Given the description of an element on the screen output the (x, y) to click on. 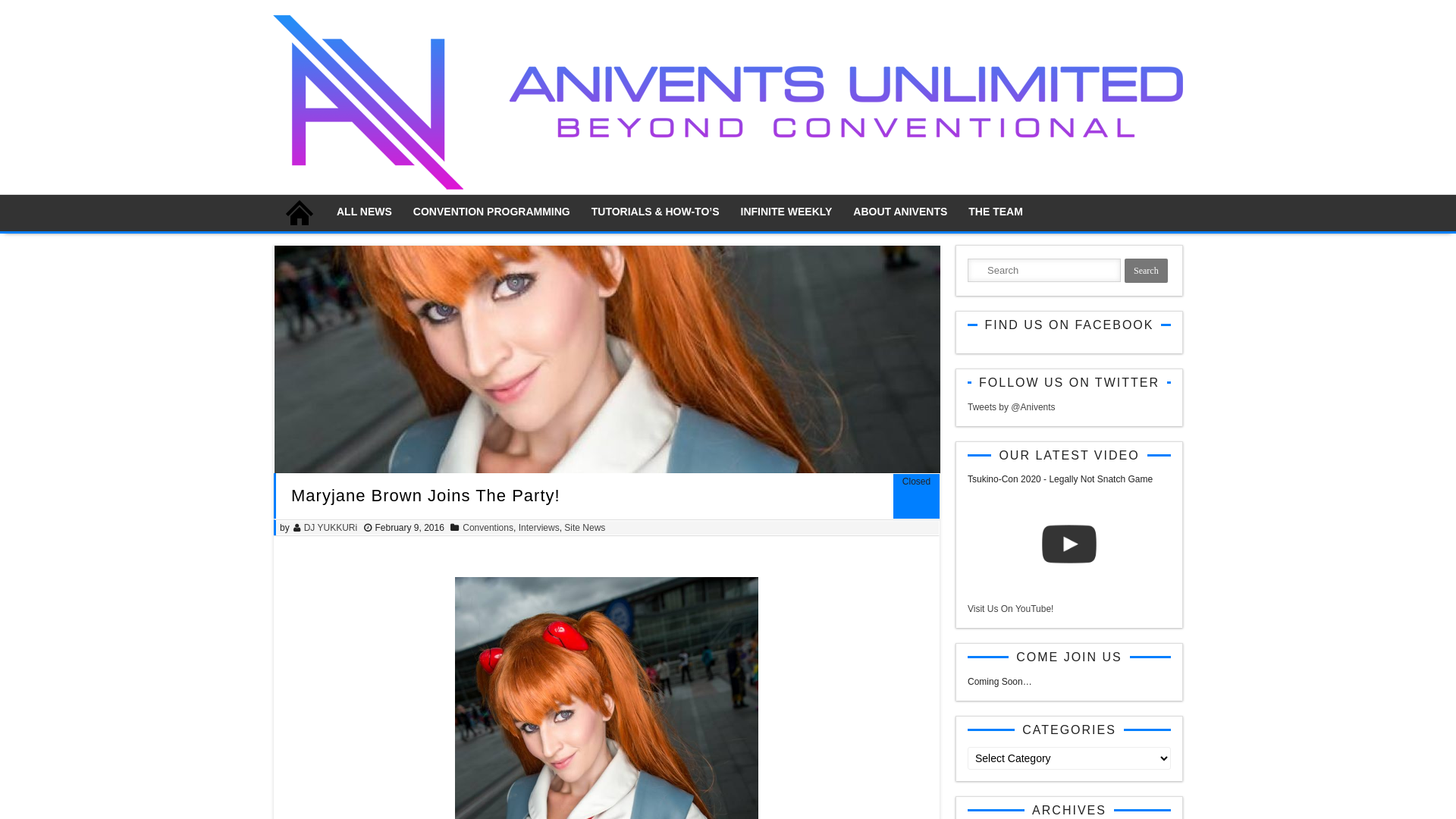
DJ YUKKURi Element type: text (330, 527)
THE TEAM Element type: text (995, 212)
CONVENTION PROGRAMMING Element type: text (491, 212)
Search Element type: text (1145, 270)
Maryjane Brown Joins The Party! Element type: hover (607, 359)
Site News Element type: text (584, 527)
HOME Element type: text (299, 212)
INFINITE WEEKLY Element type: text (786, 212)
Tsukino-Con 2020 - Legally Not Snatch Game Element type: hover (1068, 543)
ABOUT ANIVENTS Element type: text (899, 212)
ALL NEWS Element type: text (364, 212)
Visit Us On YouTube! Element type: text (1010, 608)
Conventions Element type: text (487, 527)
Interviews Element type: text (538, 527)
Tweets by @Anivents Element type: text (1011, 406)
Anivents Unlimited Element type: hover (728, 186)
